Given the description of an element on the screen output the (x, y) to click on. 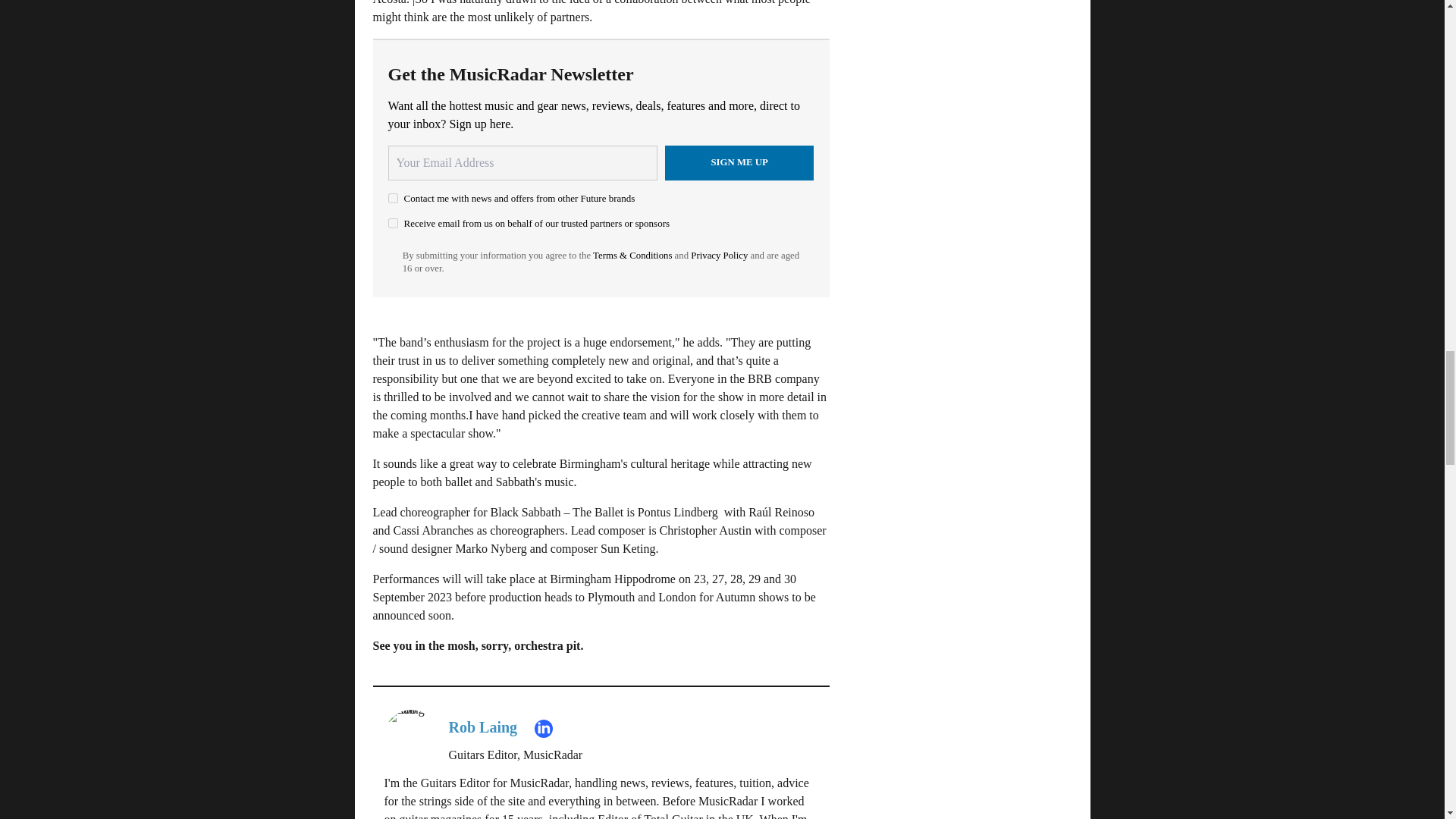
Sign me up (739, 162)
on (392, 223)
on (392, 198)
